Given the description of an element on the screen output the (x, y) to click on. 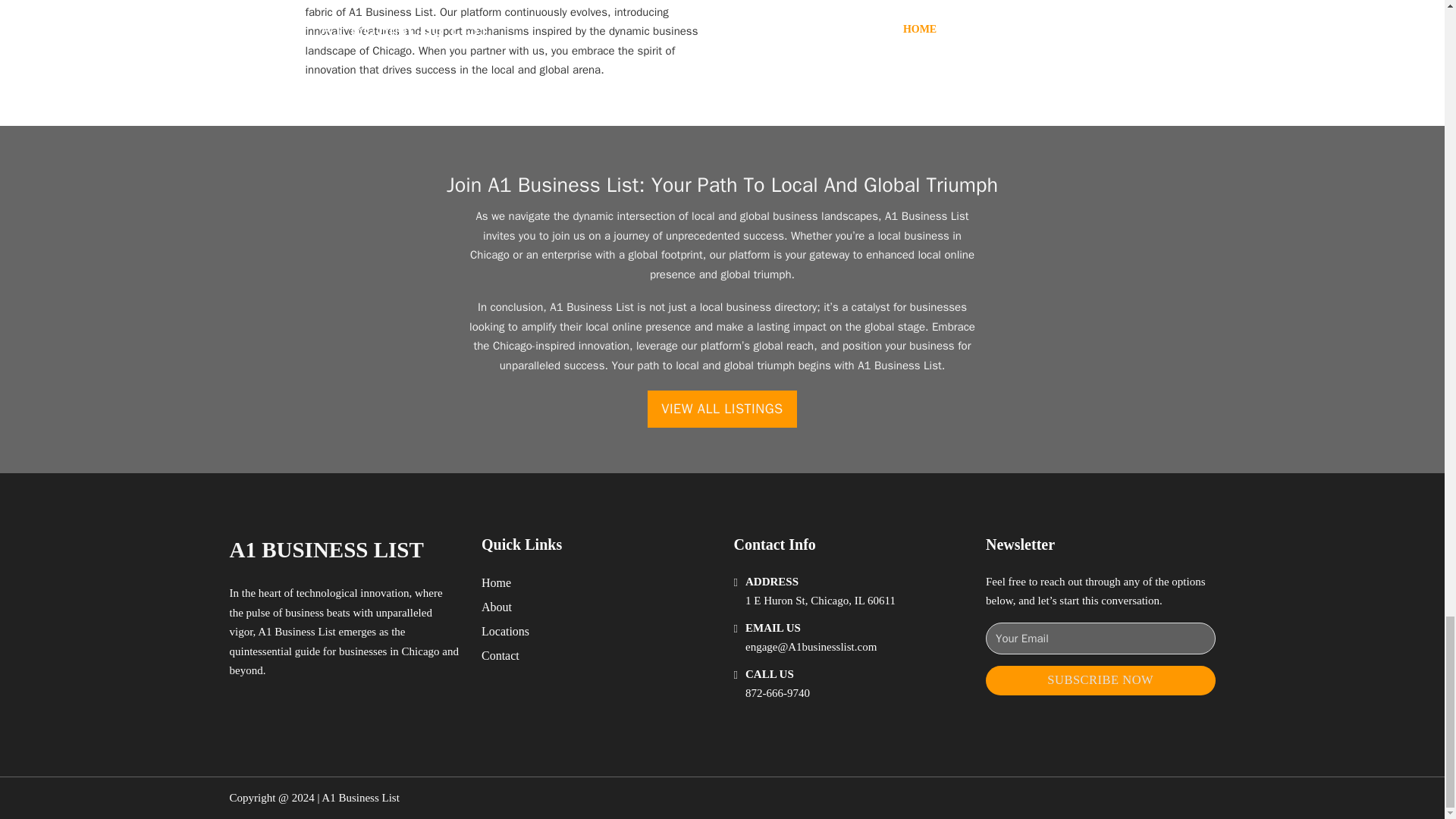
About (496, 607)
A1 BUSINESS LIST (325, 549)
Home (496, 582)
SUBSCRIBE NOW (1100, 680)
Locations (505, 630)
VIEW ALL LISTINGS (721, 408)
872-666-9740 (777, 693)
Contact (500, 655)
